Given the description of an element on the screen output the (x, y) to click on. 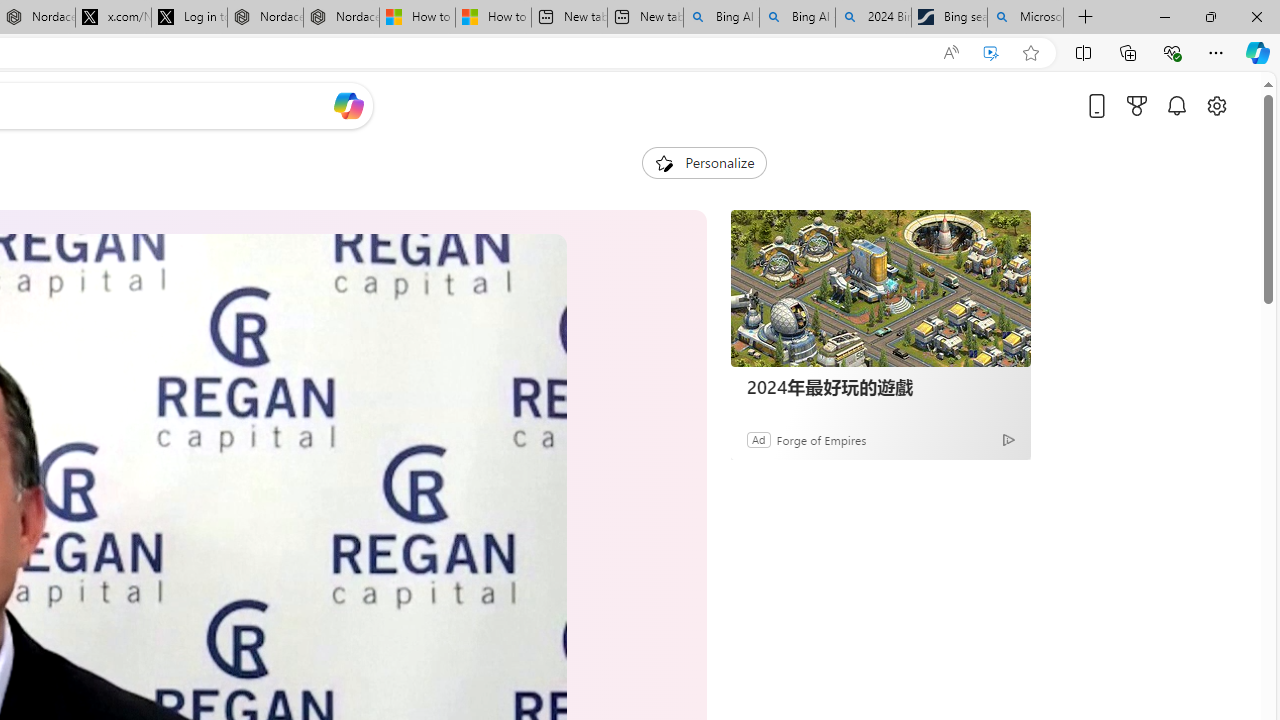
Microsoft Bing Timeline - Search (1025, 17)
